Given the description of an element on the screen output the (x, y) to click on. 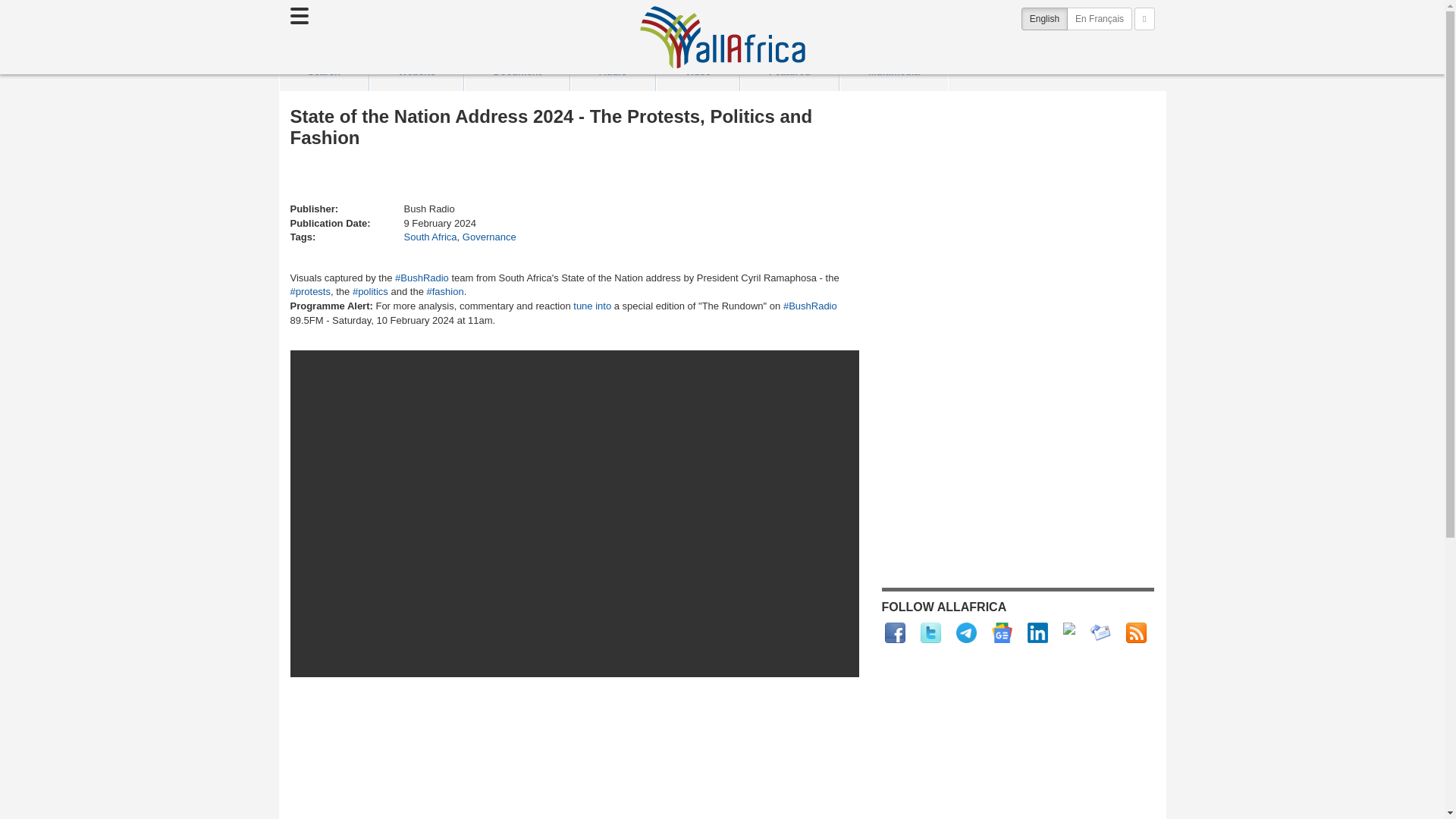
Governance (489, 236)
South Africa (430, 236)
tune into (592, 306)
Multimedia (893, 71)
Featured (789, 71)
Video (697, 71)
Toggle navigation (298, 15)
Audio (612, 71)
Search (323, 71)
Website (416, 71)
